Given the description of an element on the screen output the (x, y) to click on. 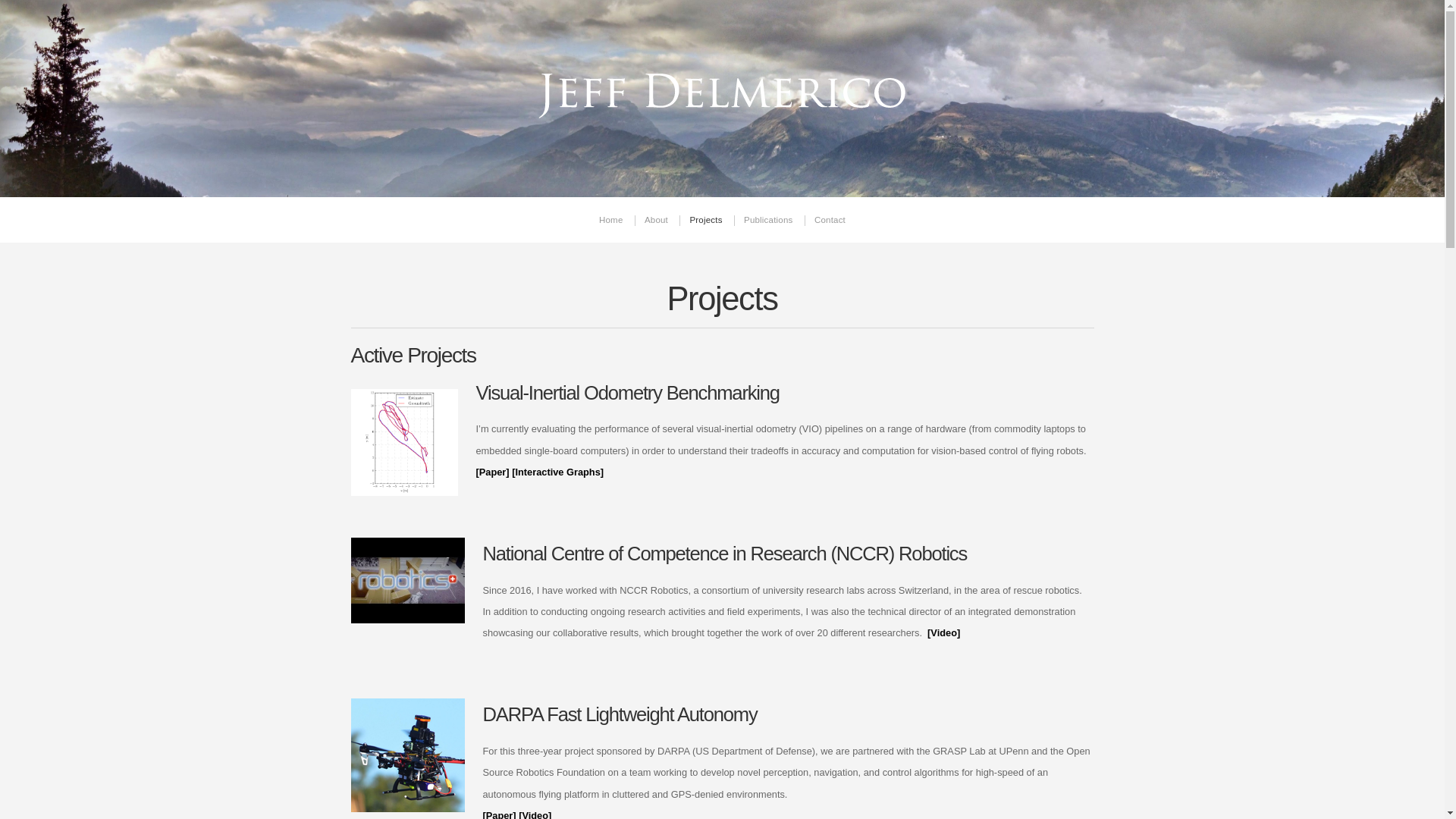
Publications (767, 220)
Projects (704, 220)
About (655, 220)
Home (610, 220)
Contact (829, 220)
